Given the description of an element on the screen output the (x, y) to click on. 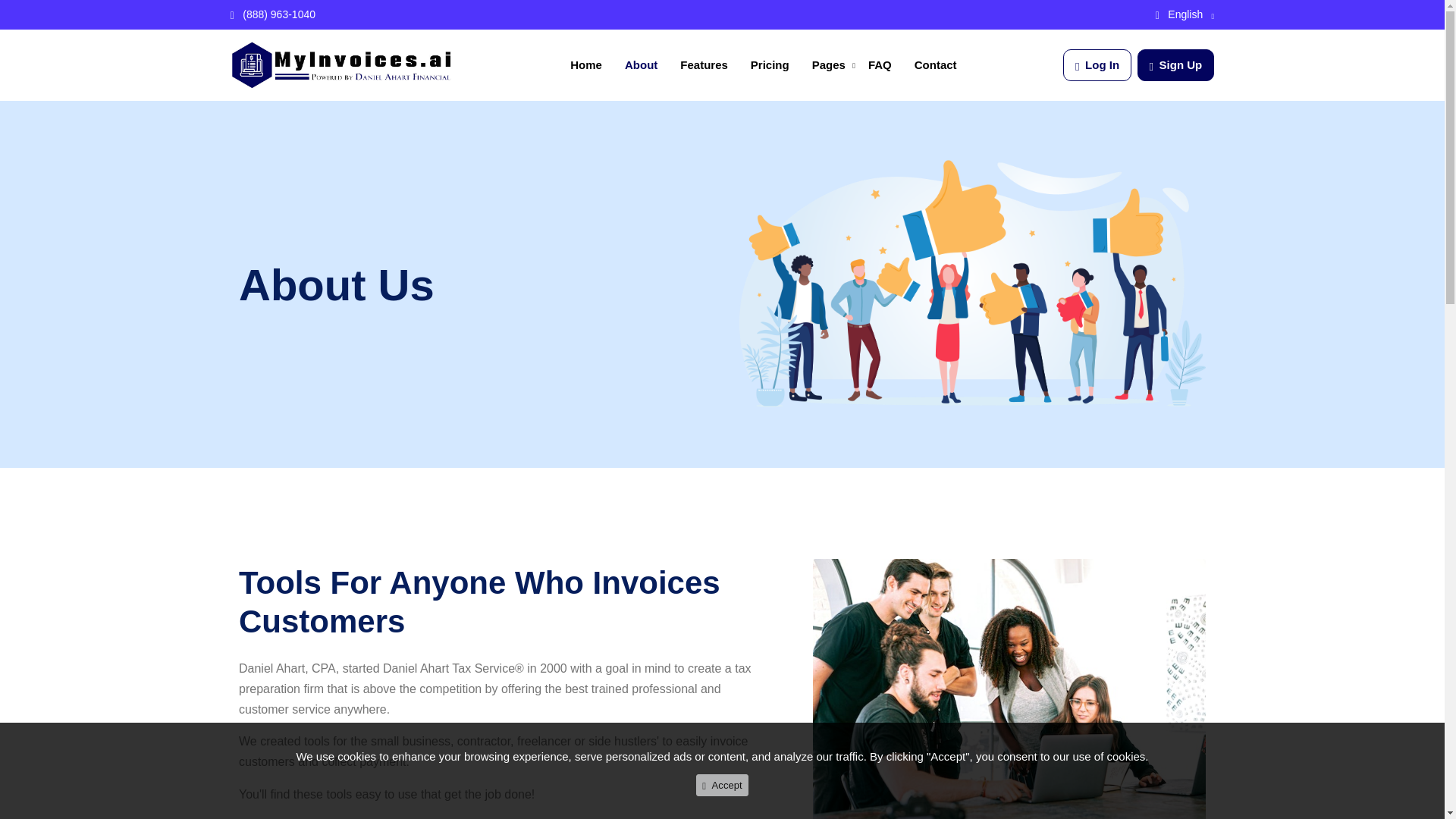
FAQ (879, 64)
Sign Up (1175, 65)
About (640, 64)
Accept (721, 784)
English (1179, 14)
Pricing (769, 64)
Pages (828, 64)
Home (585, 64)
Log In (1096, 65)
Features (703, 64)
Contact (935, 64)
